Given the description of an element on the screen output the (x, y) to click on. 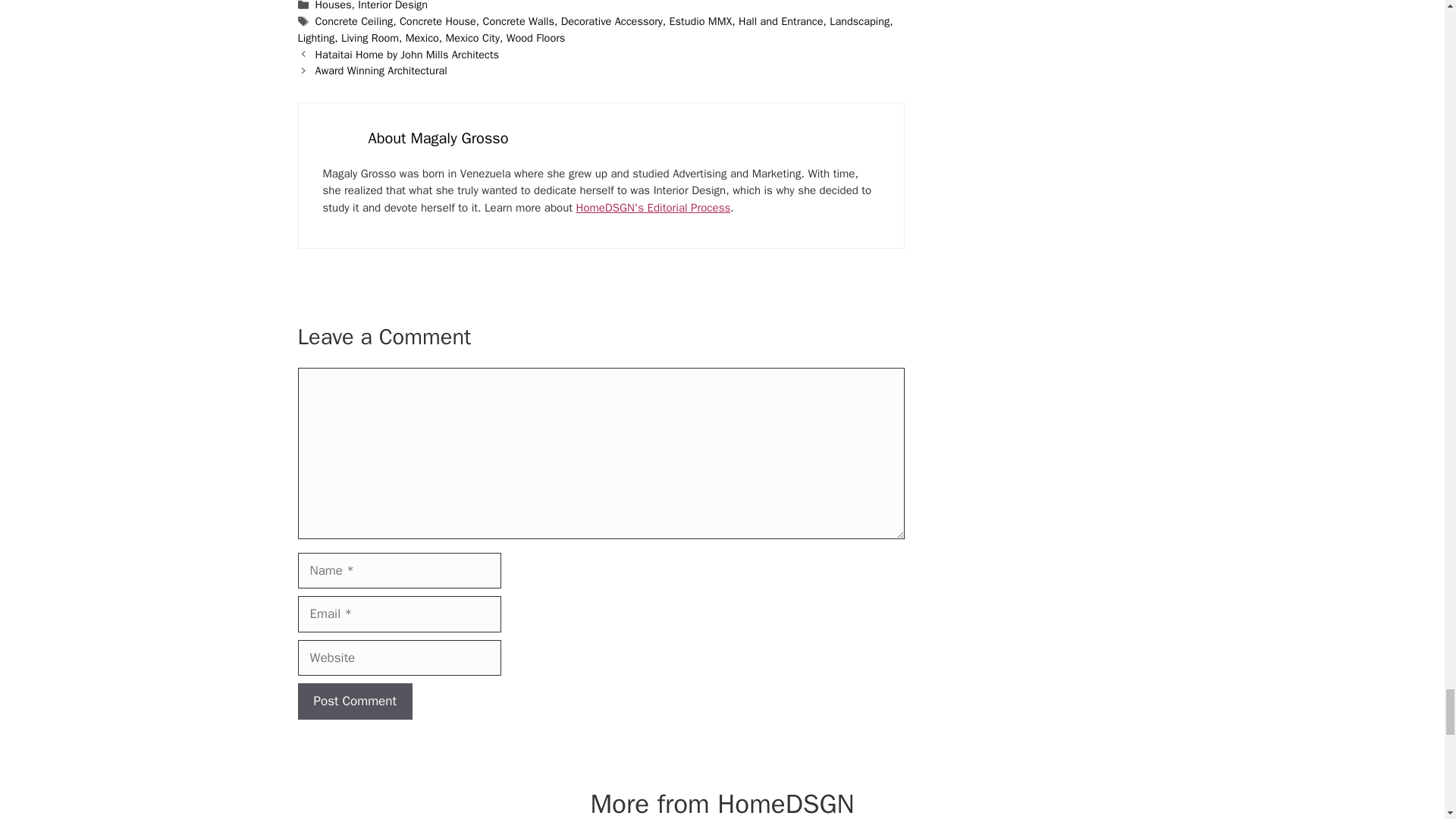
Read more (438, 138)
Post Comment (354, 701)
editorial guidelines (653, 207)
